Given the description of an element on the screen output the (x, y) to click on. 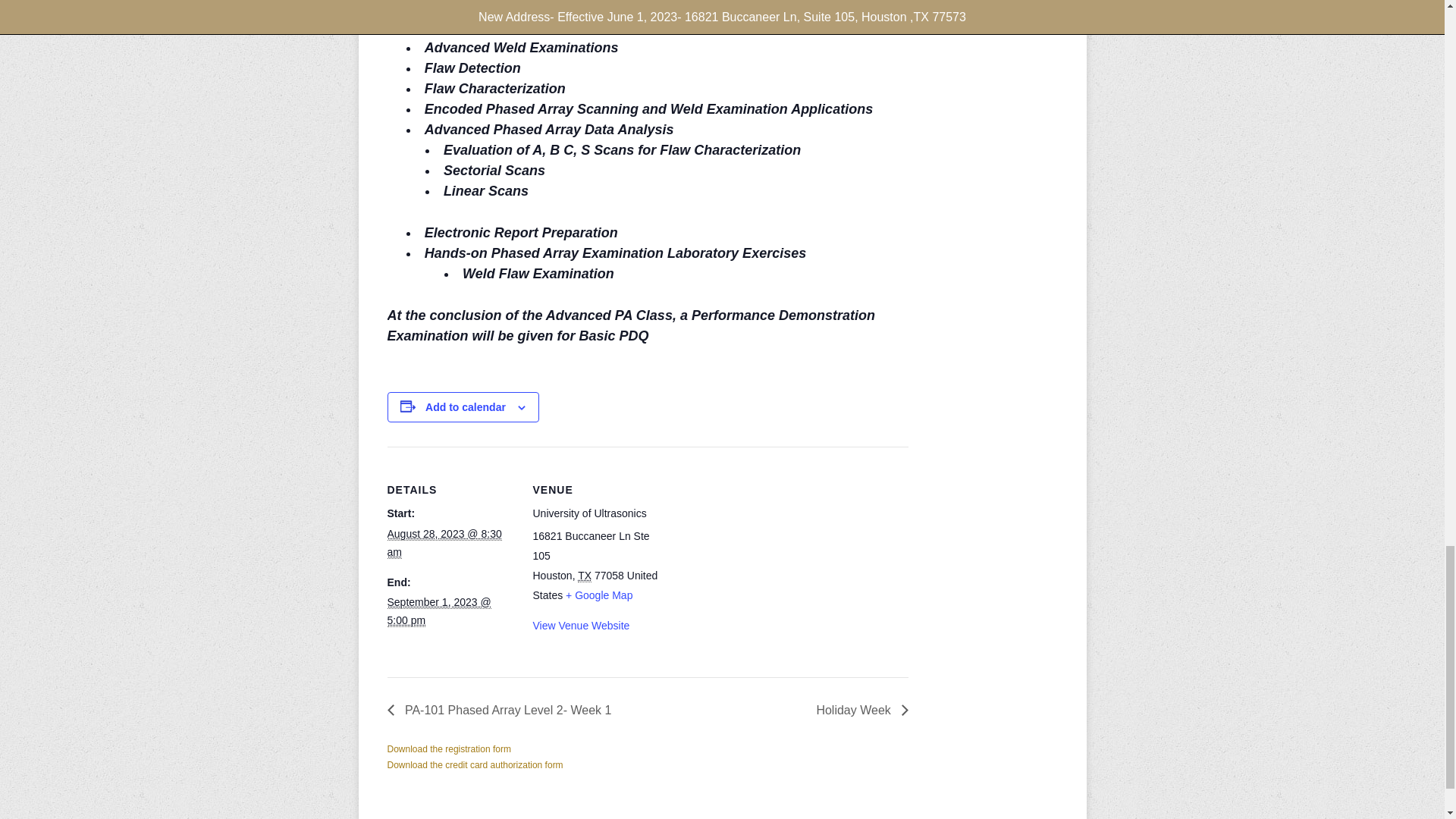
PA-101 Phased Array Level 2- Week 1 (503, 709)
Texas (584, 575)
Click to view a Google Map (598, 594)
Holiday Week (858, 709)
Add to calendar (465, 407)
Download the registration form (449, 748)
2023-08-28 (443, 542)
Download the credit card authorization form (474, 765)
2023-09-01 (438, 611)
View Venue Website (580, 625)
